Given the description of an element on the screen output the (x, y) to click on. 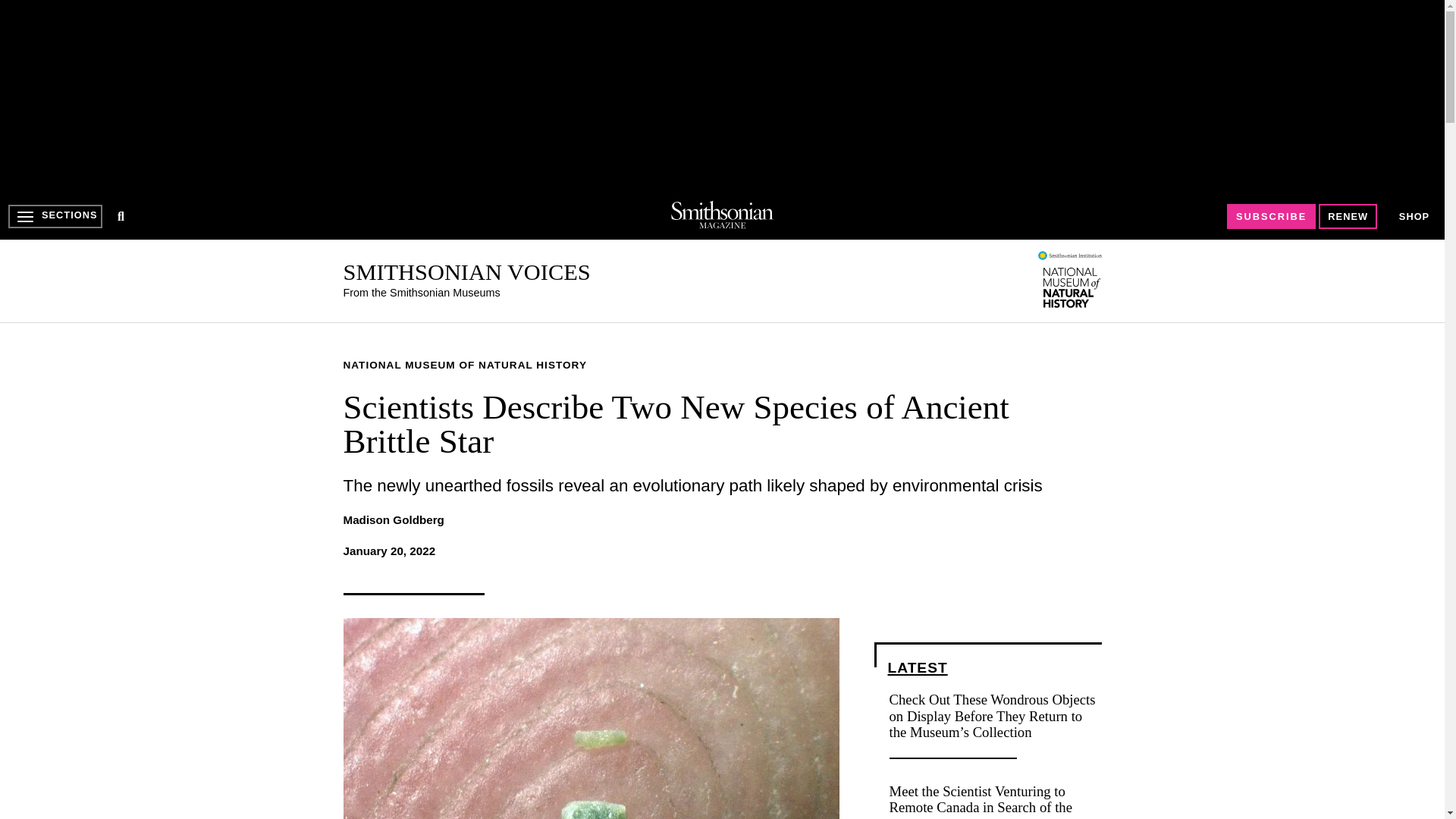
RENEW (1347, 216)
RENEW (1348, 216)
SECTIONS (55, 216)
SHOP (1414, 215)
SUBSCRIBE (1271, 216)
SUBSCRIBE (1271, 216)
SHOP (1413, 216)
